Given the description of an element on the screen output the (x, y) to click on. 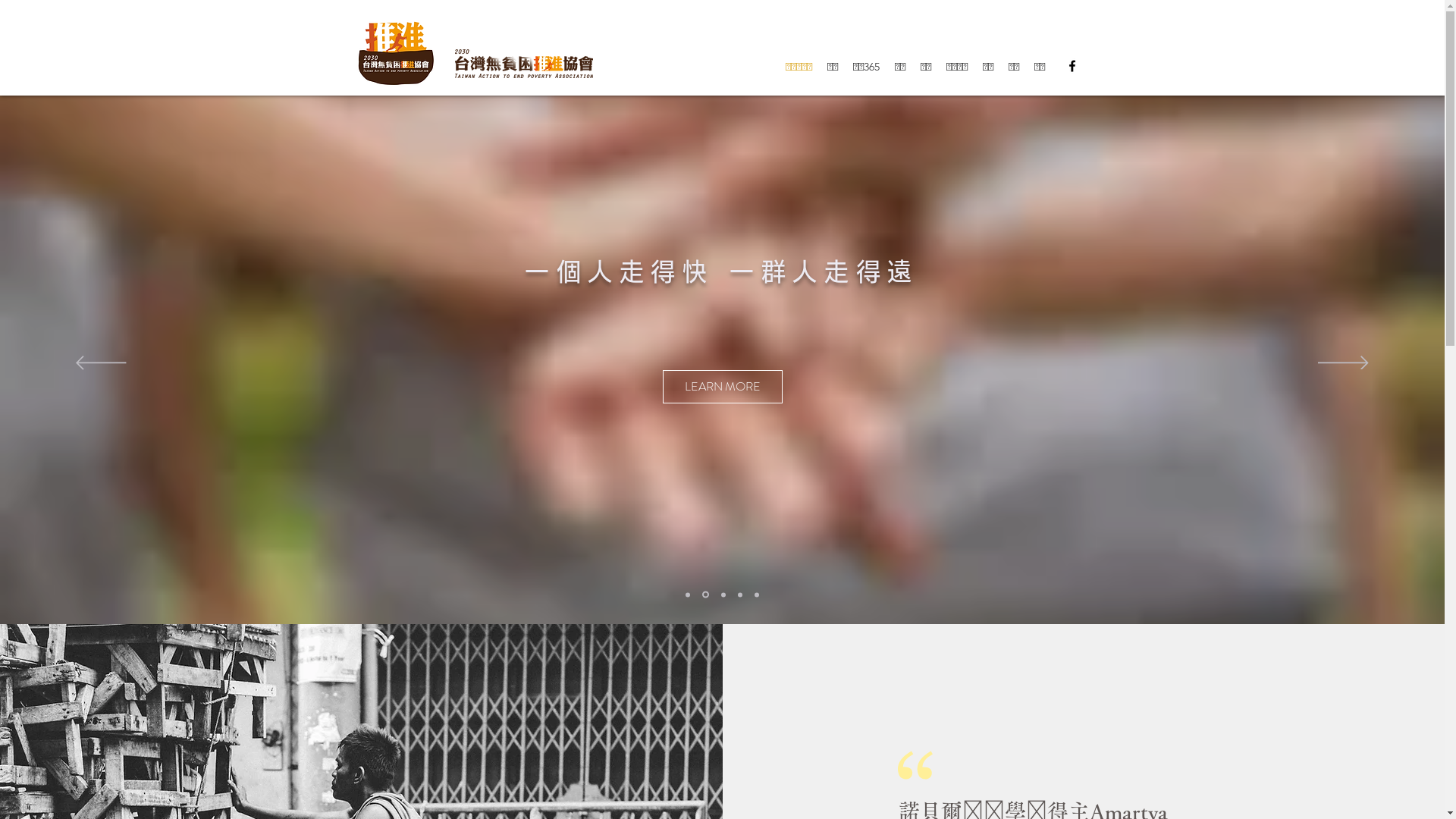
LEARN MORE Element type: text (762, 386)
